Given the description of an element on the screen output the (x, y) to click on. 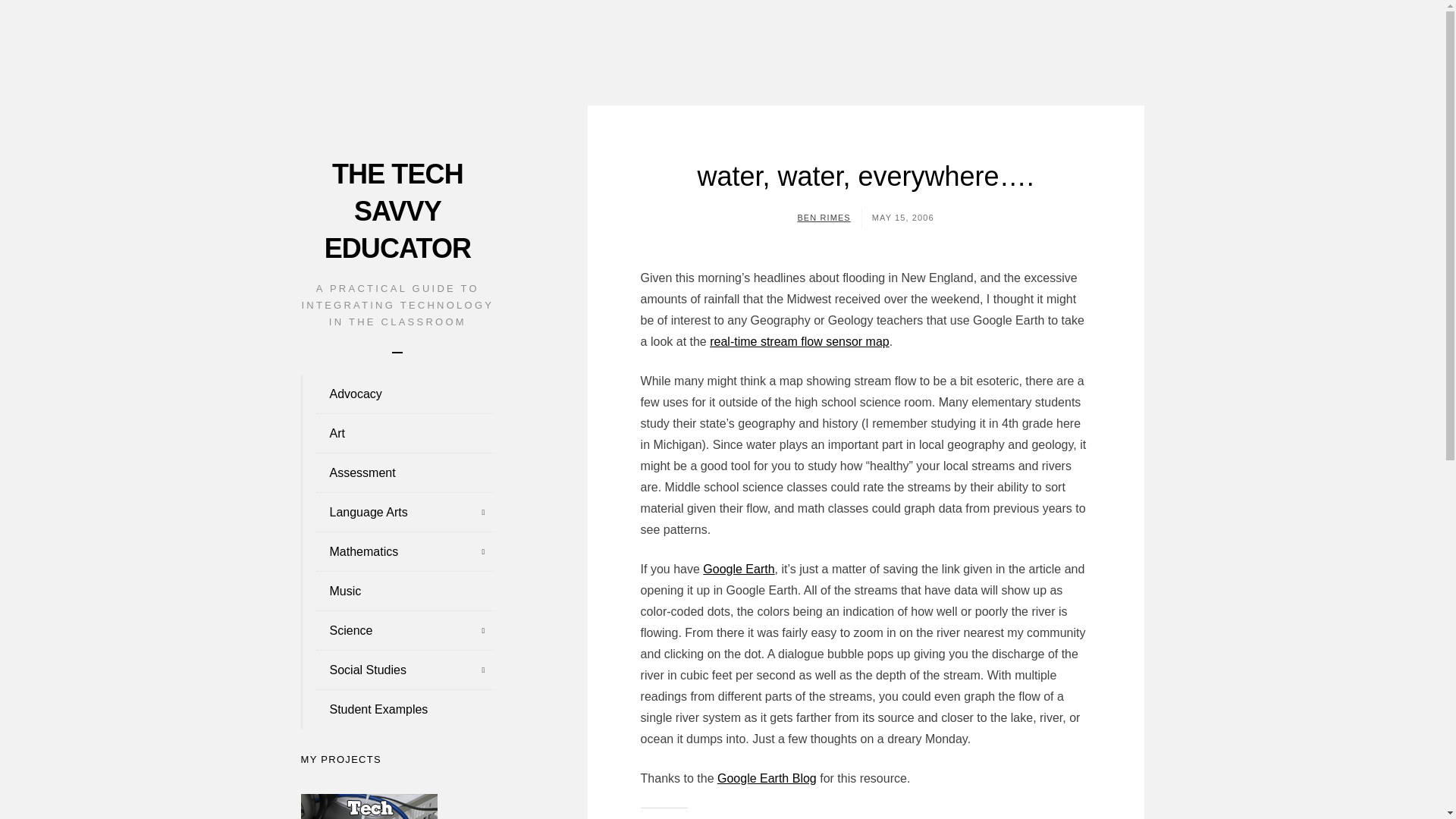
Advocacy (397, 394)
Social Studies (397, 670)
Music (397, 590)
Language Arts (397, 512)
Science (397, 630)
Assessment (397, 473)
Mathematics (397, 551)
Art (397, 433)
THE TECH SAVVY EDUCATOR (397, 210)
Student Examples (397, 709)
